Given the description of an element on the screen output the (x, y) to click on. 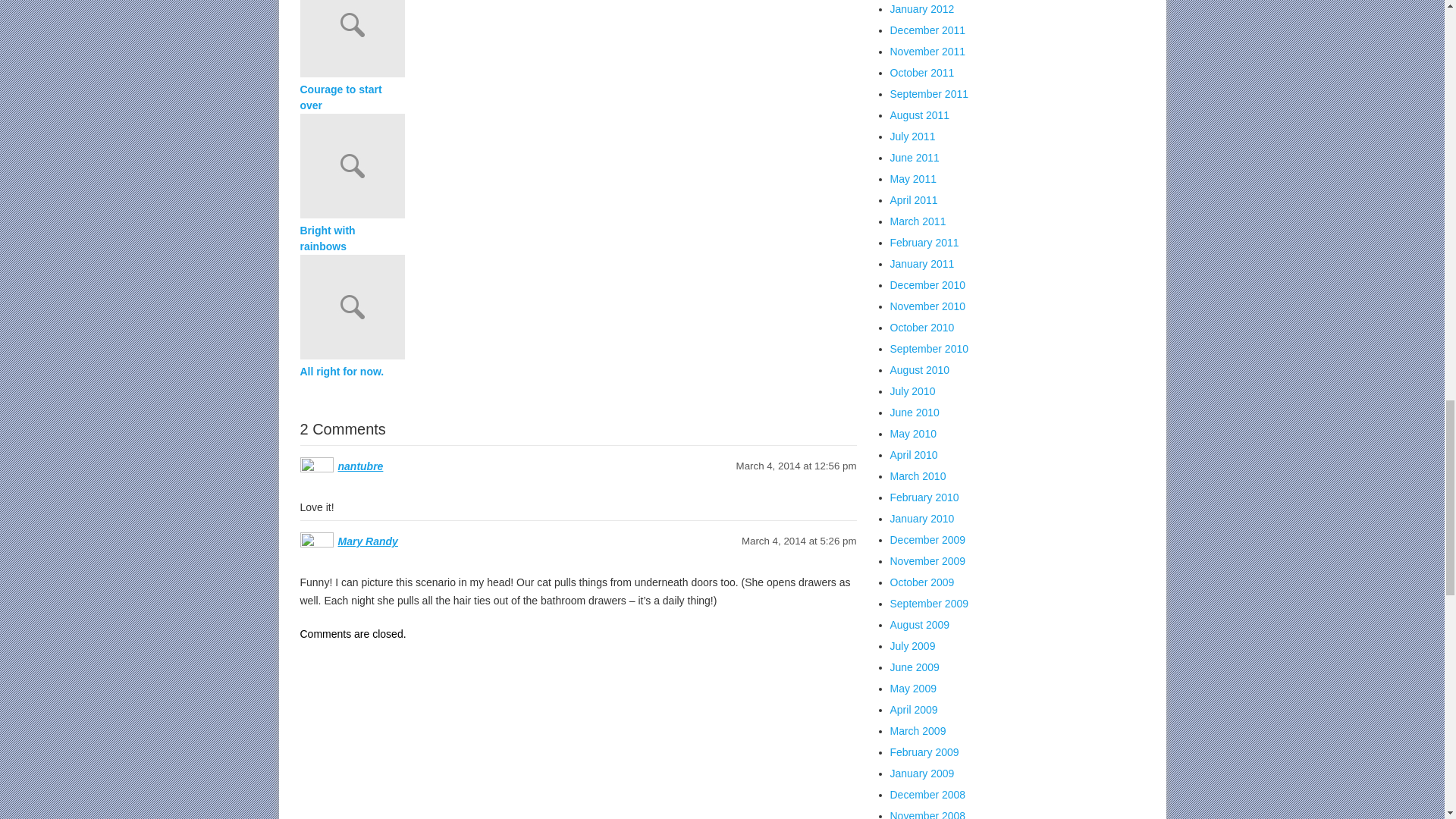
Bright with rainbows (351, 238)
Courage to start over (578, 40)
nantubre (360, 466)
Mary Randy (367, 541)
All right for now. (351, 371)
Courage to start over (351, 97)
